Given the description of an element on the screen output the (x, y) to click on. 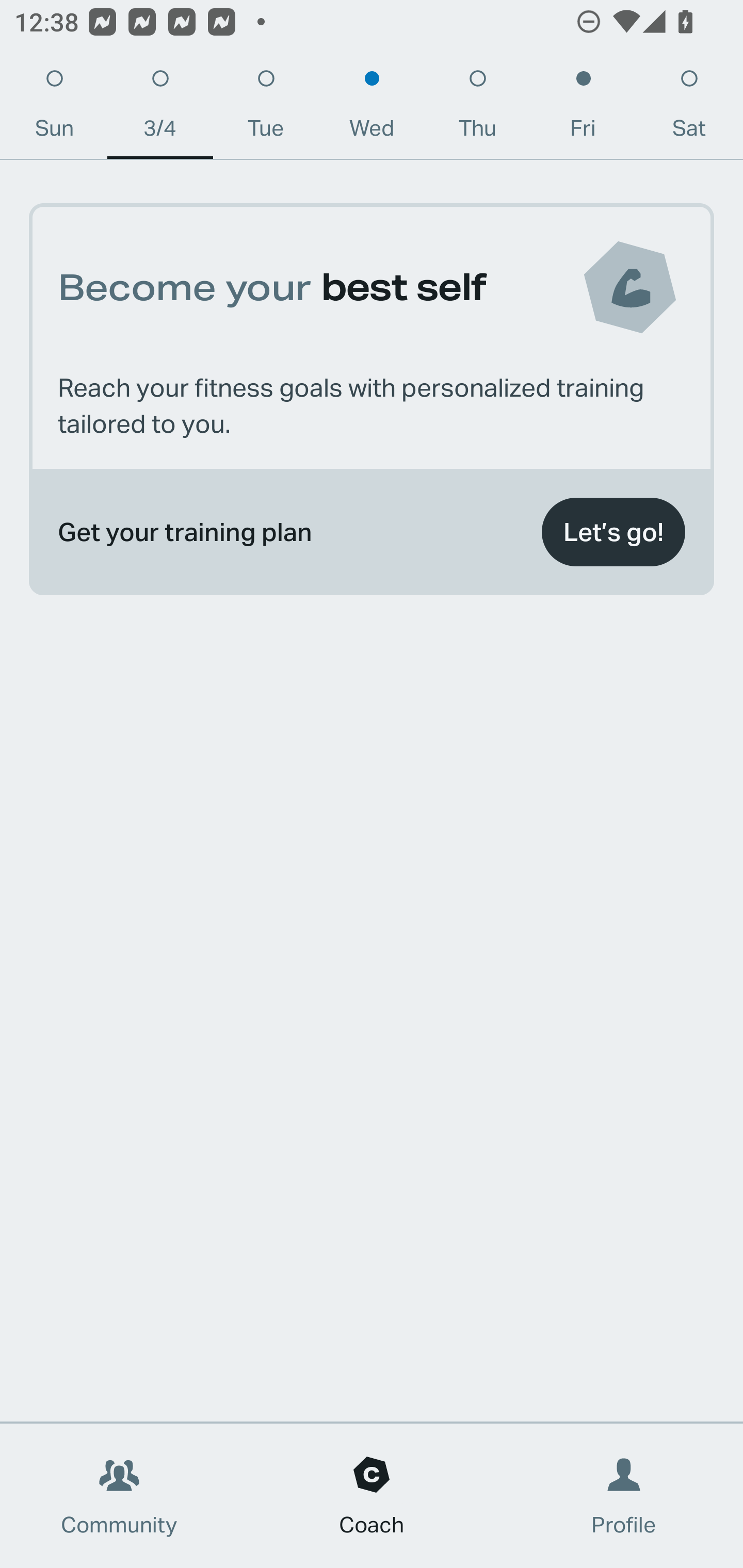
Sun (53, 108)
3/4 (159, 108)
Tue (265, 108)
Wed (371, 108)
Thu (477, 108)
Fri (583, 108)
Sat (689, 108)
Let’s go! (613, 532)
Community (119, 1495)
Profile (624, 1495)
